Given the description of an element on the screen output the (x, y) to click on. 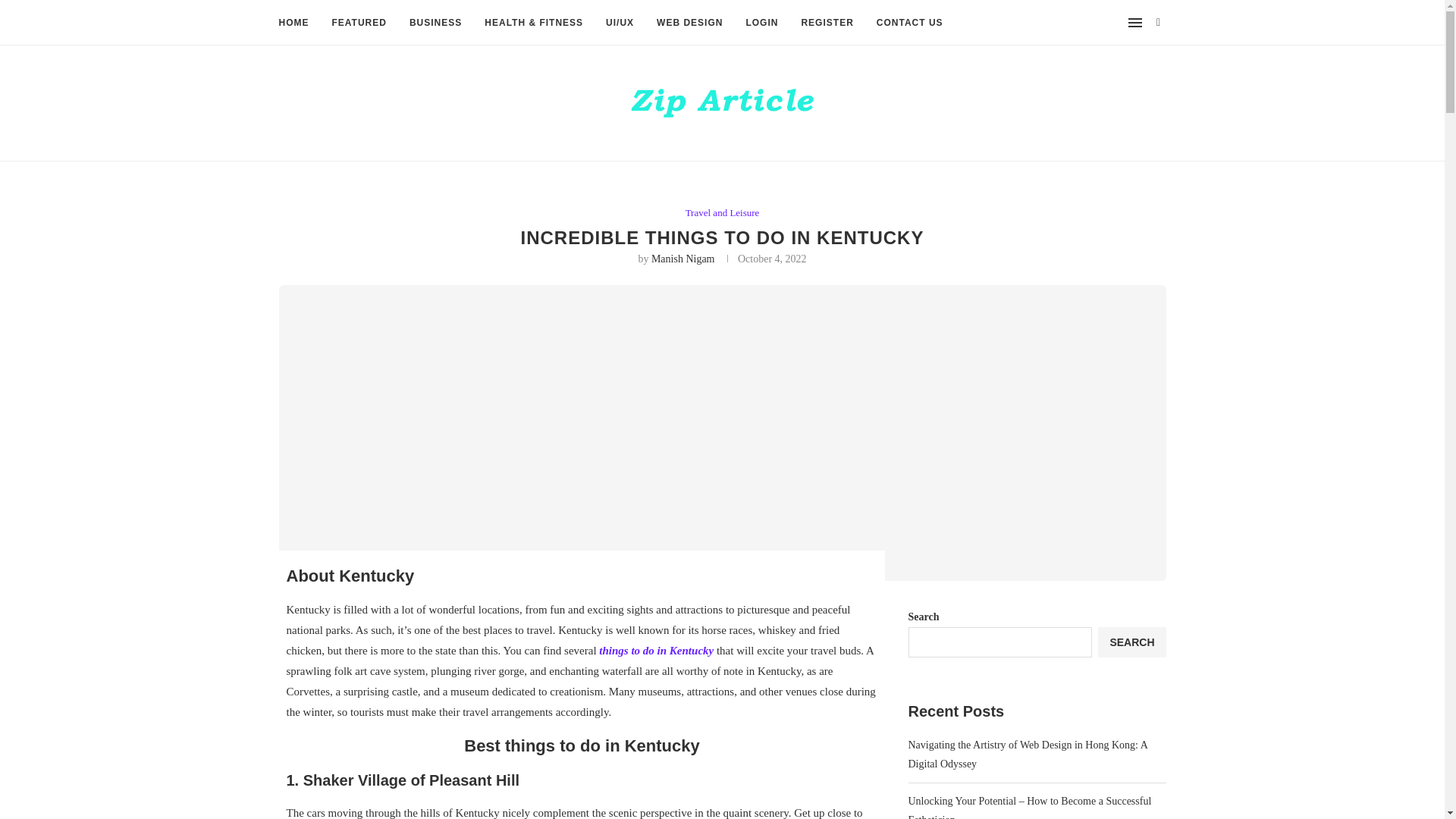
WEB DESIGN (689, 22)
things to do in Kentucky (655, 650)
FEATURED (359, 22)
Manish Nigam (682, 258)
REGISTER (826, 22)
BUSINESS (435, 22)
Travel and Leisure (722, 213)
CONTACT US (909, 22)
